Given the description of an element on the screen output the (x, y) to click on. 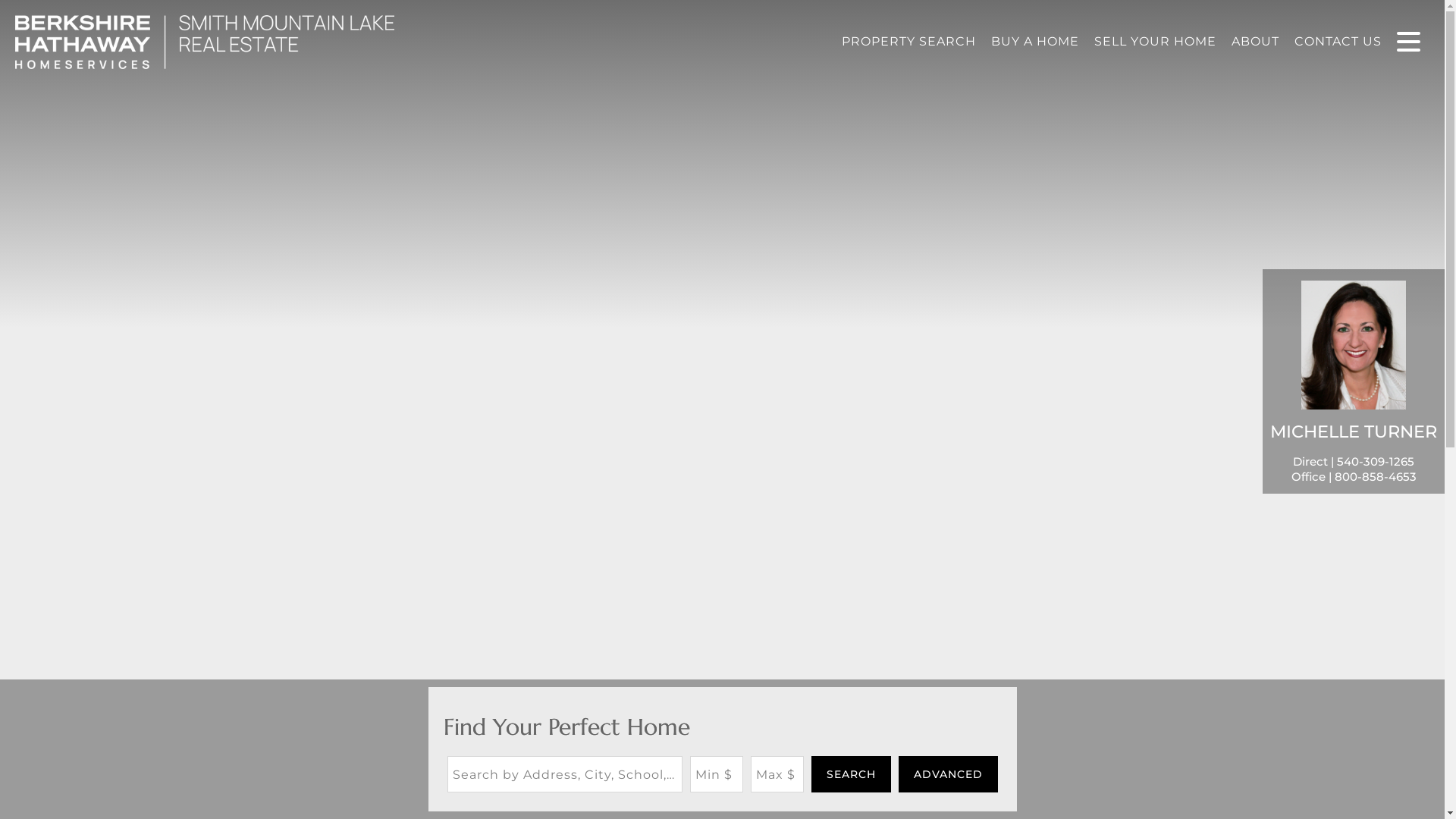
PROPERTY SEARCH (909, 41)
SELL YOUR HOME (1155, 41)
BUY A HOME (1035, 41)
ABOUT (1255, 41)
